Given the description of an element on the screen output the (x, y) to click on. 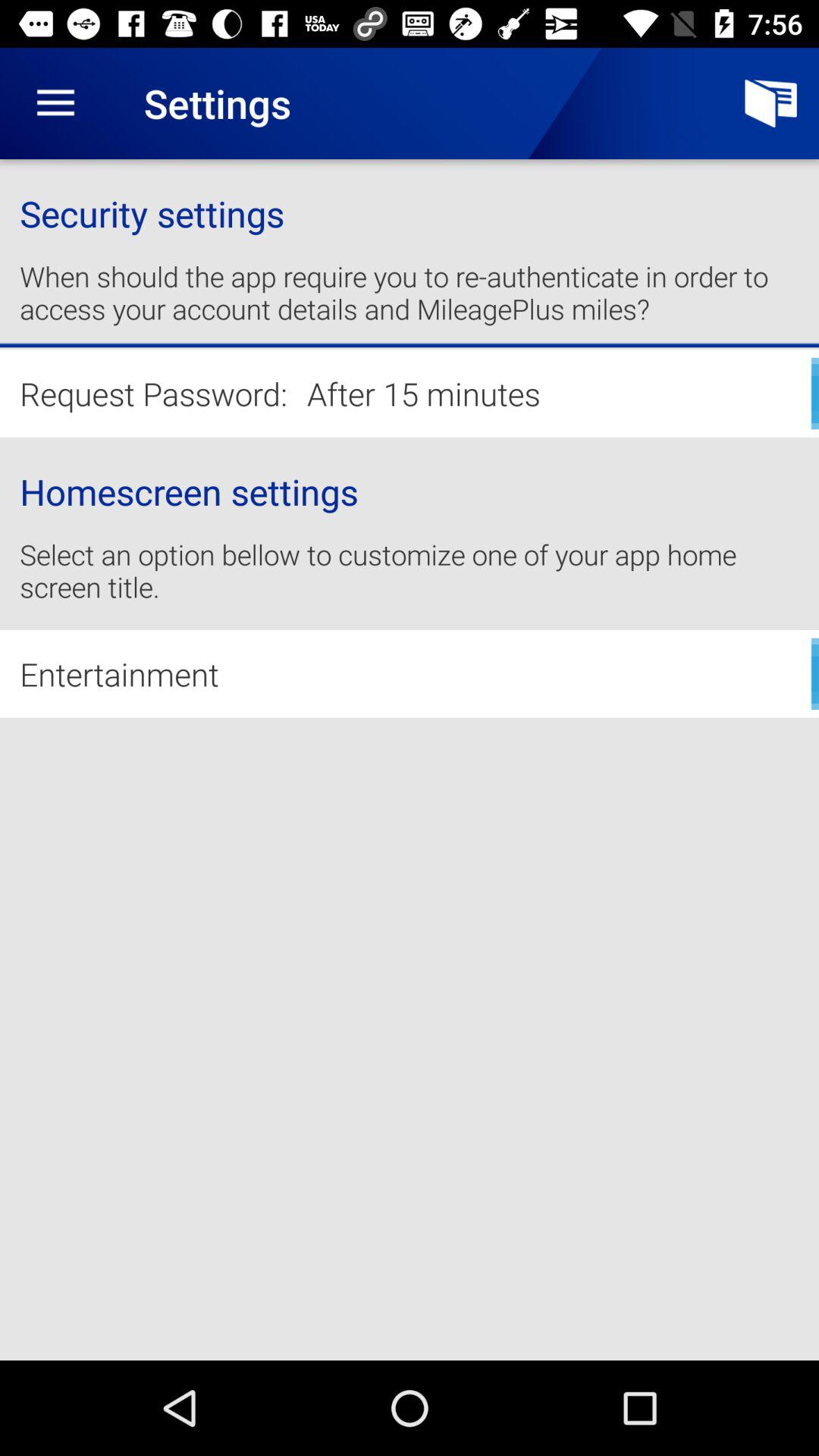
choose the entertainment icon (409, 673)
